Given the description of an element on the screen output the (x, y) to click on. 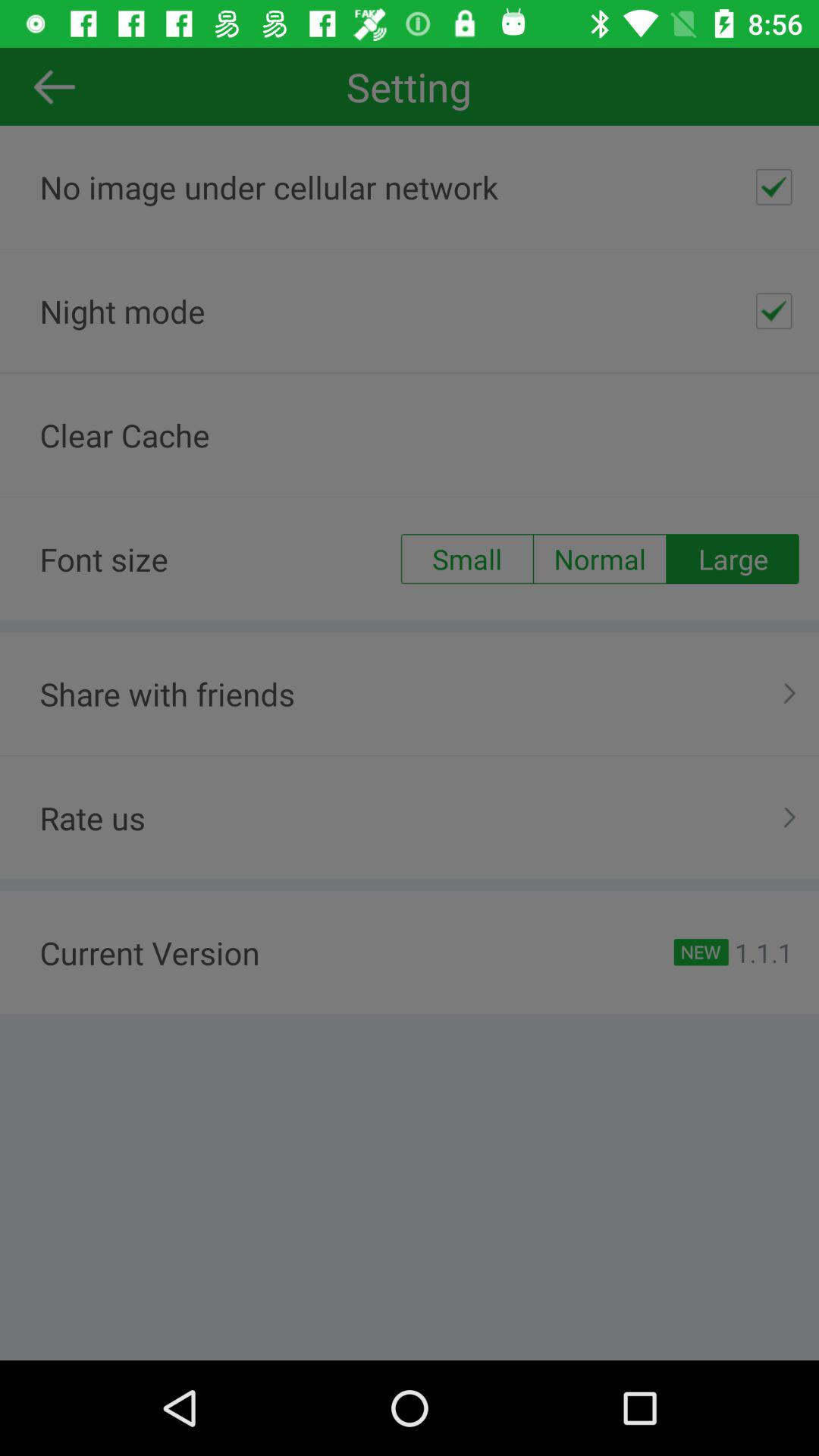
click icon above clear cache app (774, 311)
